Given the description of an element on the screen output the (x, y) to click on. 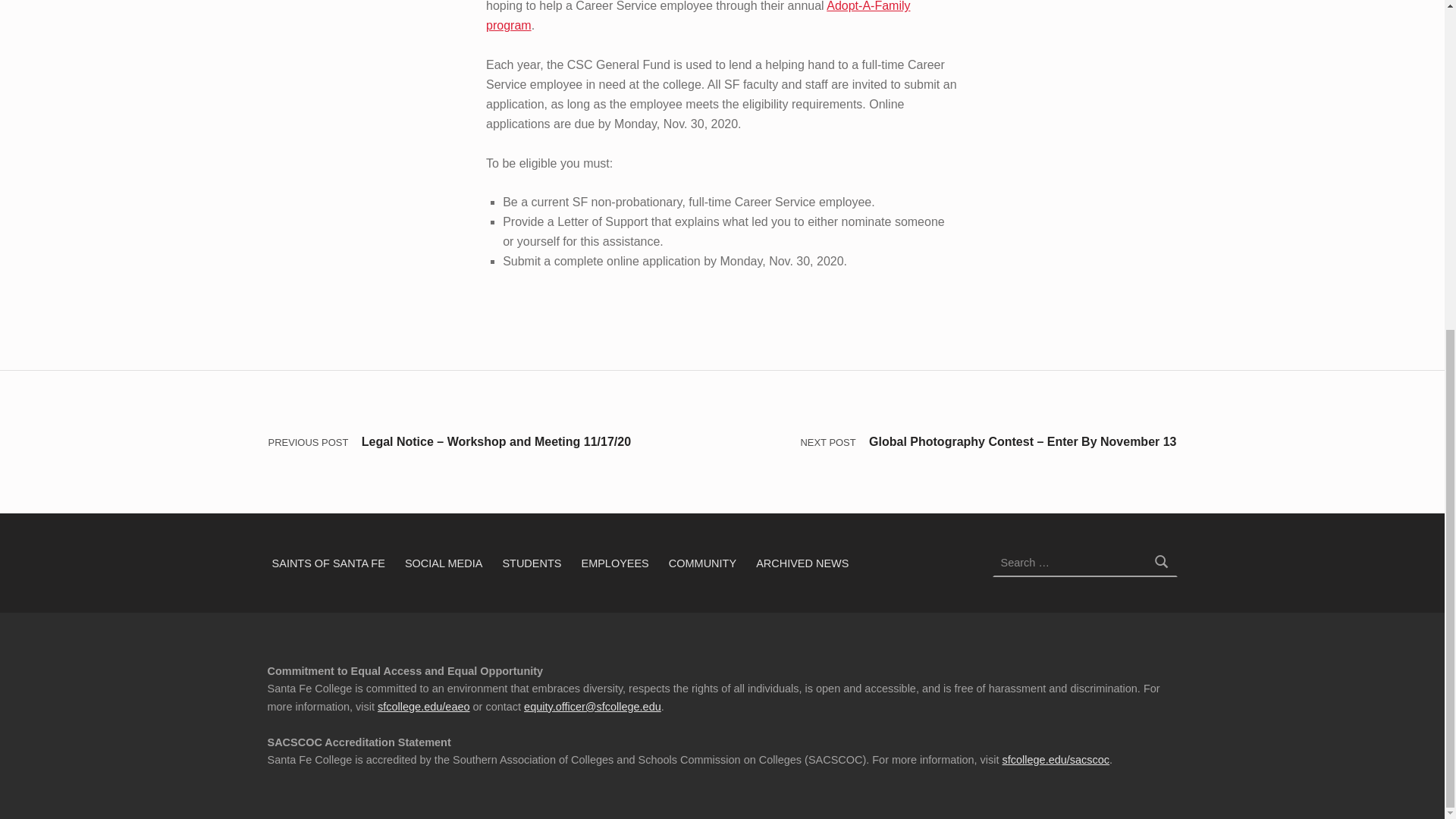
SOCIAL MEDIA (443, 562)
Adopt-A-Family program (698, 15)
STUDENTS (531, 562)
SAINTS OF SANTA FE (327, 562)
ARCHIVED NEWS (802, 562)
EMPLOYEES (614, 562)
COMMUNITY (702, 562)
